Given the description of an element on the screen output the (x, y) to click on. 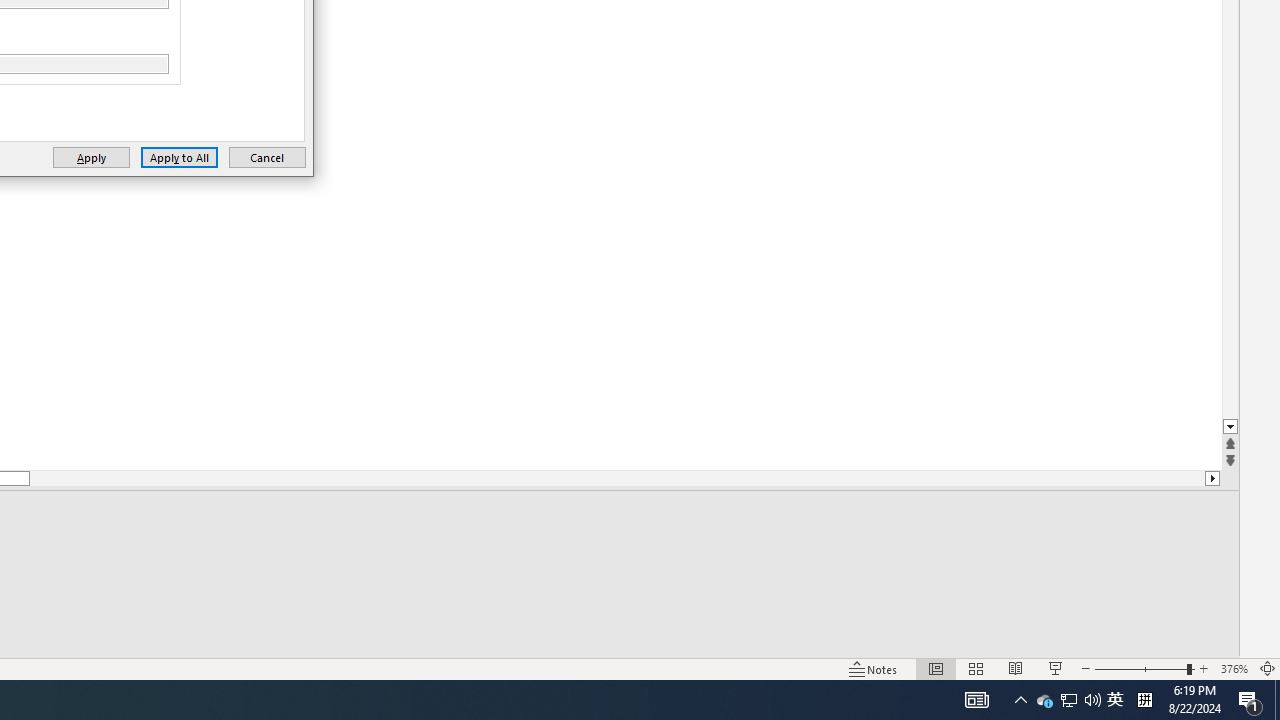
Zoom 376% (1234, 668)
